Given the description of an element on the screen output the (x, y) to click on. 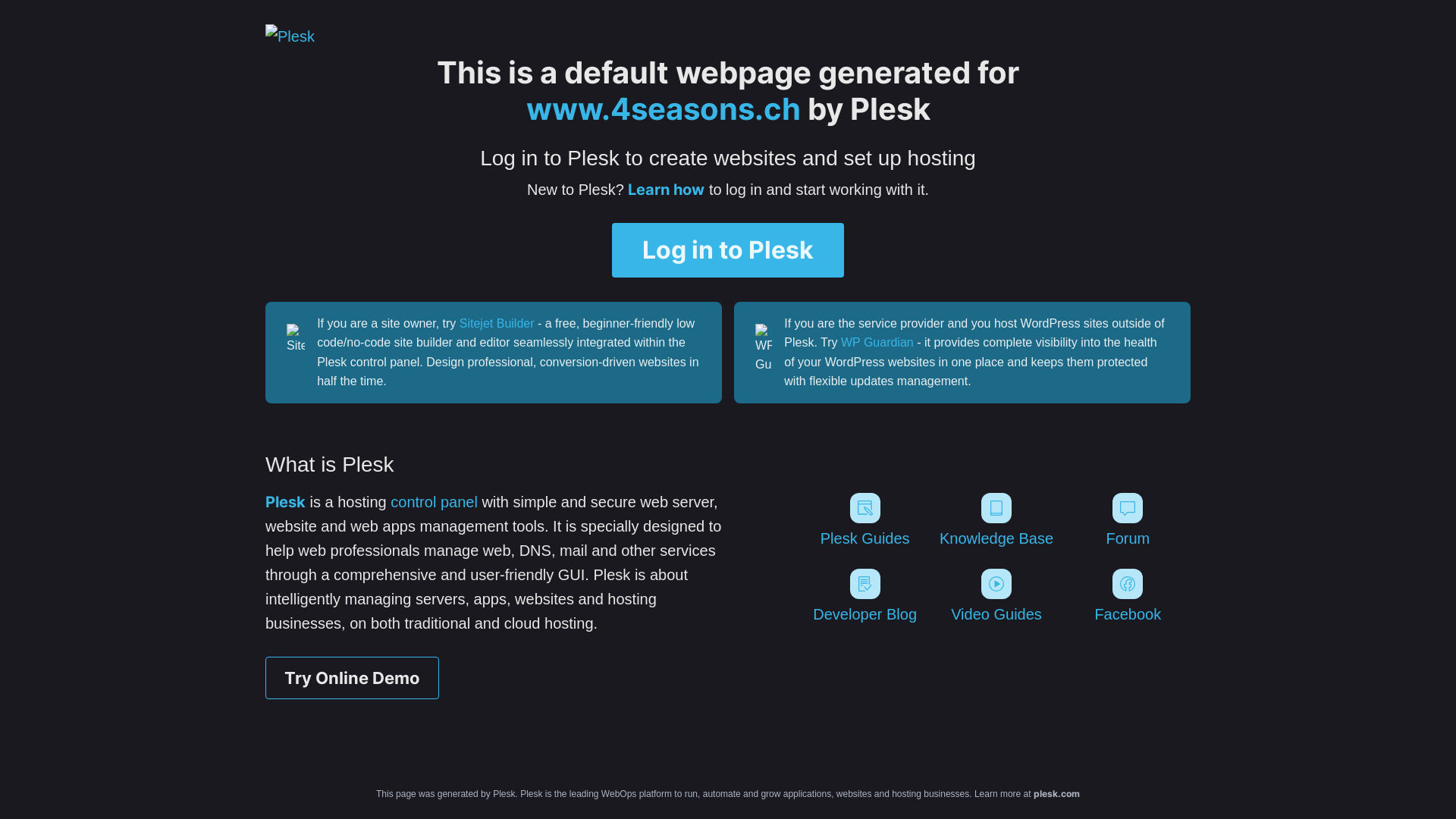
Knowledge Base Element type: text (995, 519)
Plesk Guides Element type: text (864, 519)
control panel Element type: text (433, 501)
Sitejet Builder Element type: text (496, 322)
Learn how Element type: text (665, 189)
Log in to Plesk Element type: text (727, 249)
www.4seasons.ch Element type: text (663, 108)
Plesk Element type: text (285, 501)
plesk.com Element type: text (1056, 793)
Facebook Element type: text (1127, 595)
WP Guardian Element type: text (876, 341)
Try Online Demo Element type: text (352, 677)
Video Guides Element type: text (995, 595)
Developer Blog Element type: text (864, 595)
Forum Element type: text (1127, 519)
